Given the description of an element on the screen output the (x, y) to click on. 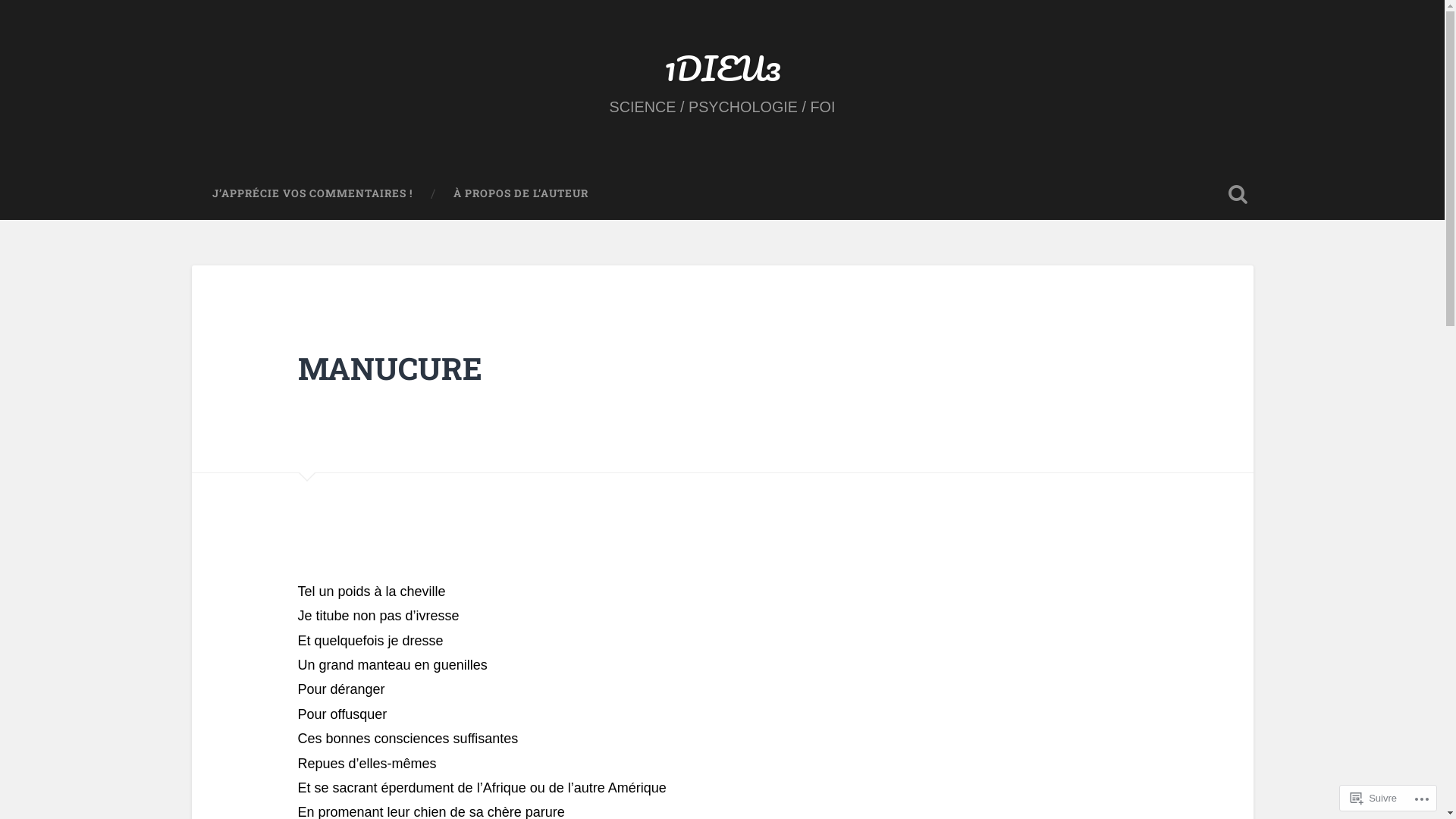
Ouvrir la recherche Element type: text (1237, 193)
1DIEU3 Element type: text (722, 67)
Suivre Element type: text (1373, 797)
